Given the description of an element on the screen output the (x, y) to click on. 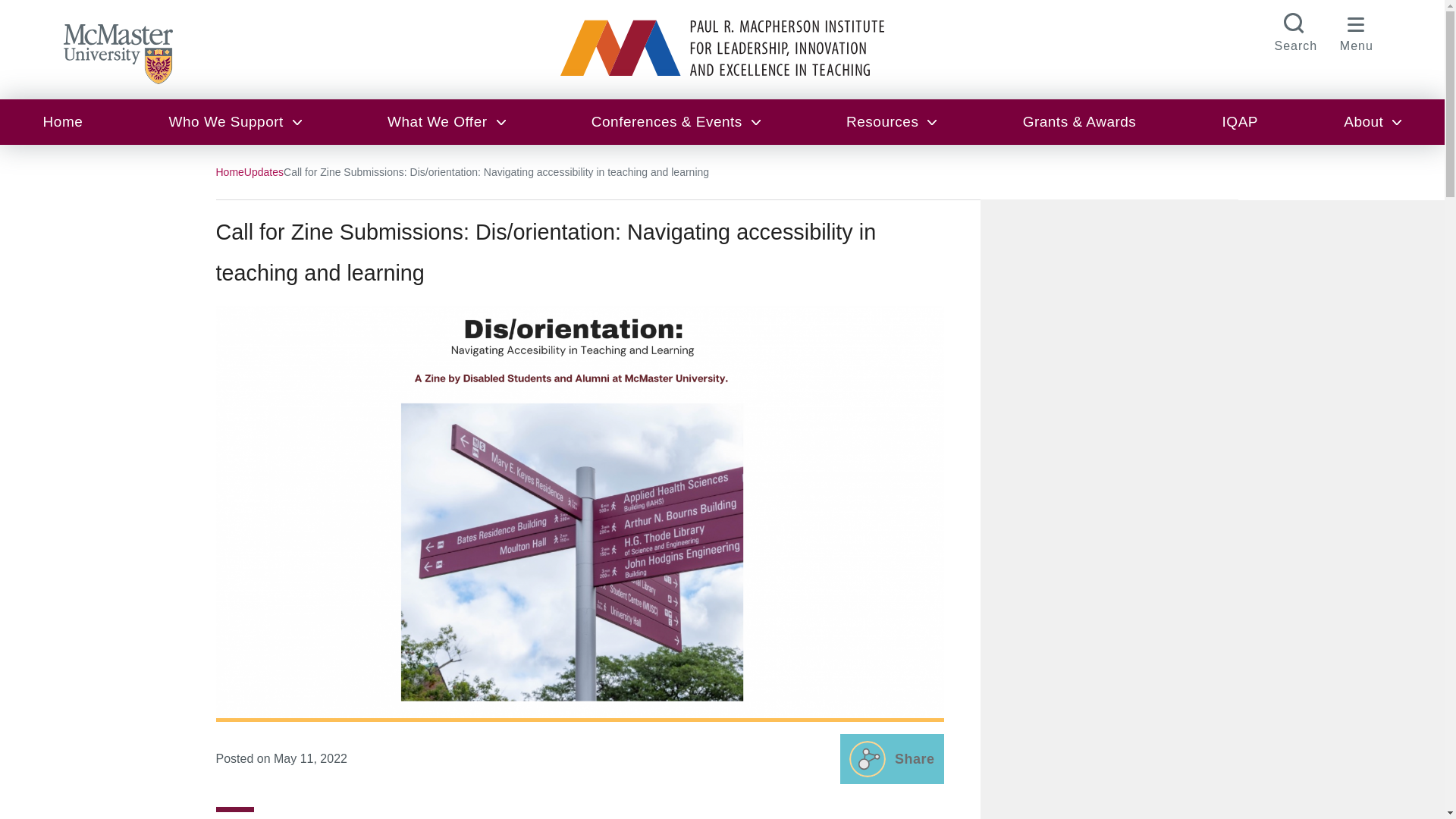
Home (62, 121)
Go to the Updates category archives. (263, 171)
SEARCH BUTTON (1295, 31)
Home (229, 171)
What We Offer (445, 121)
Who We Support (235, 121)
MENU BUTTON (1356, 31)
IQAP (1240, 121)
Resources (891, 121)
